Given the description of an element on the screen output the (x, y) to click on. 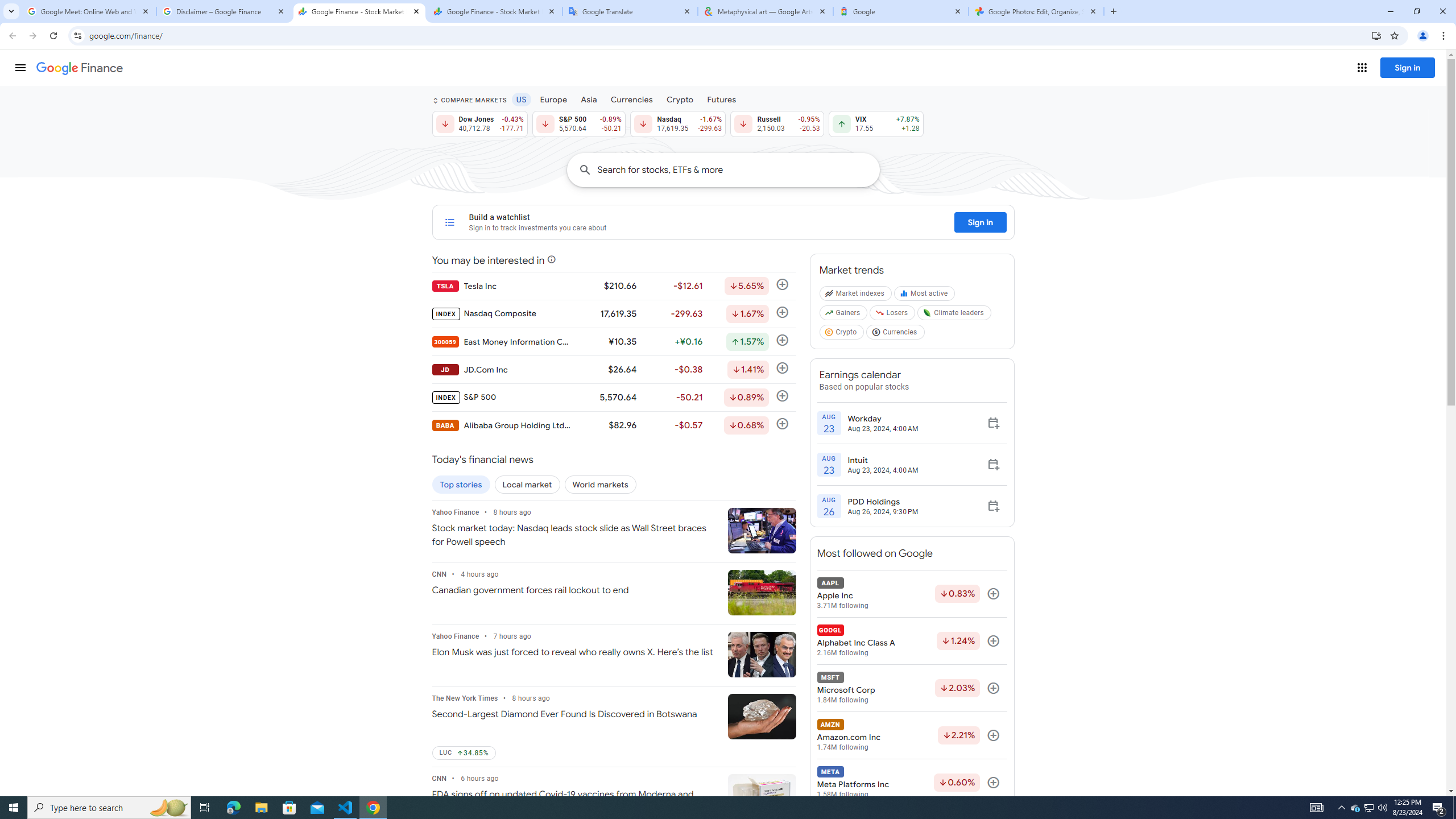
Most active (925, 295)
Currencies (896, 334)
Europe (553, 99)
World markets (600, 484)
Dow Jones 40,712.78 Down by 0.43% -177.71 (478, 123)
AAPL Apple Inc 3.71M following Down by 0.83% Follow (911, 593)
GLeaf logo Climate leaders (954, 315)
Google Translate (630, 11)
Google (901, 11)
